Given the description of an element on the screen output the (x, y) to click on. 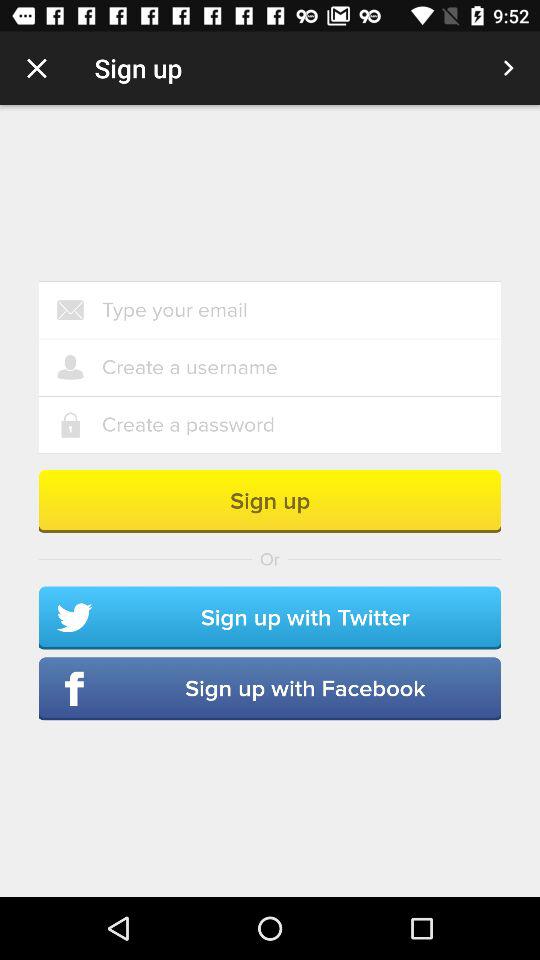
press the icon next to the sign up icon (508, 67)
